Given the description of an element on the screen output the (x, y) to click on. 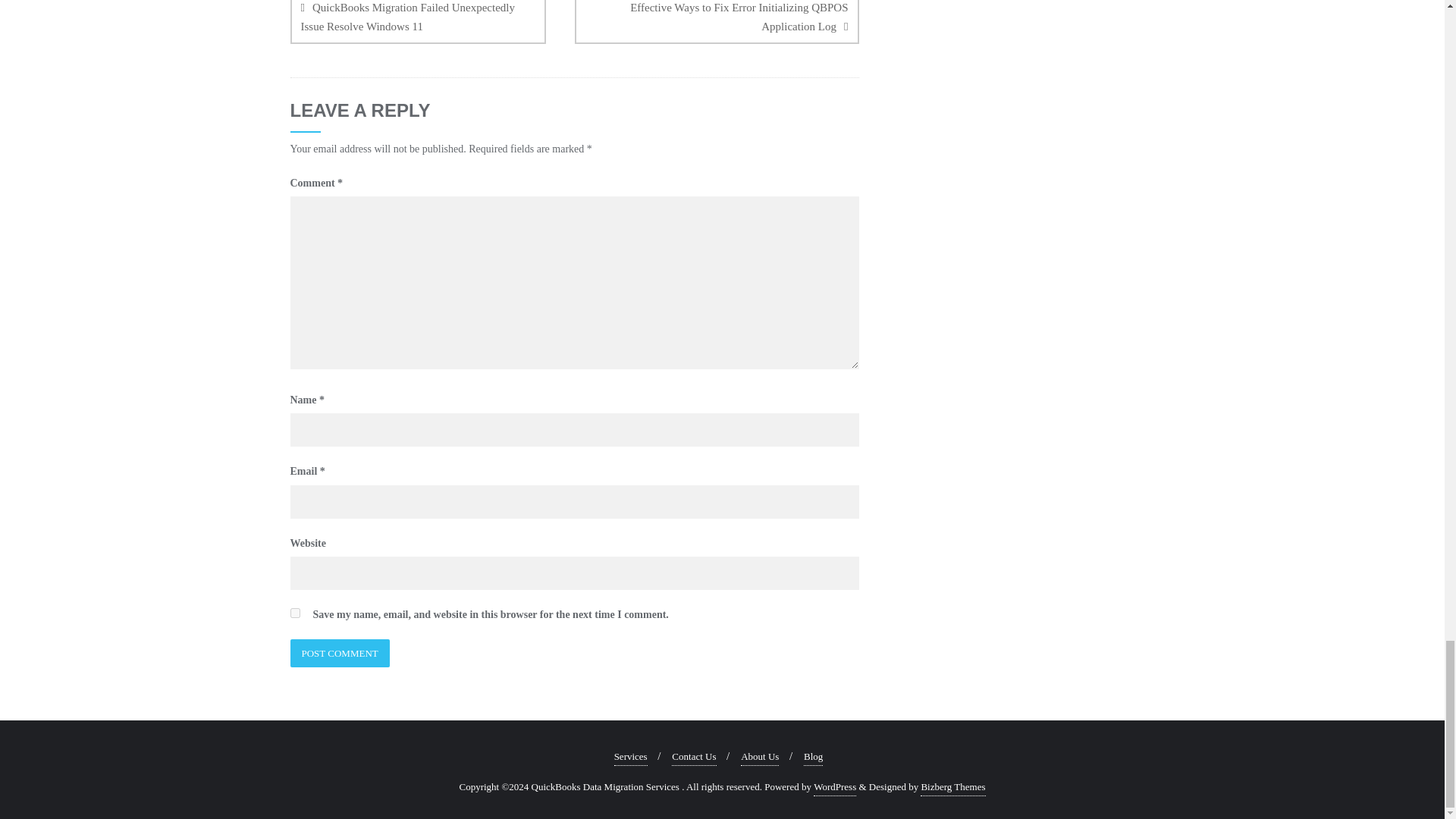
Post Comment (338, 653)
Post Comment (338, 653)
yes (294, 613)
